Given the description of an element on the screen output the (x, y) to click on. 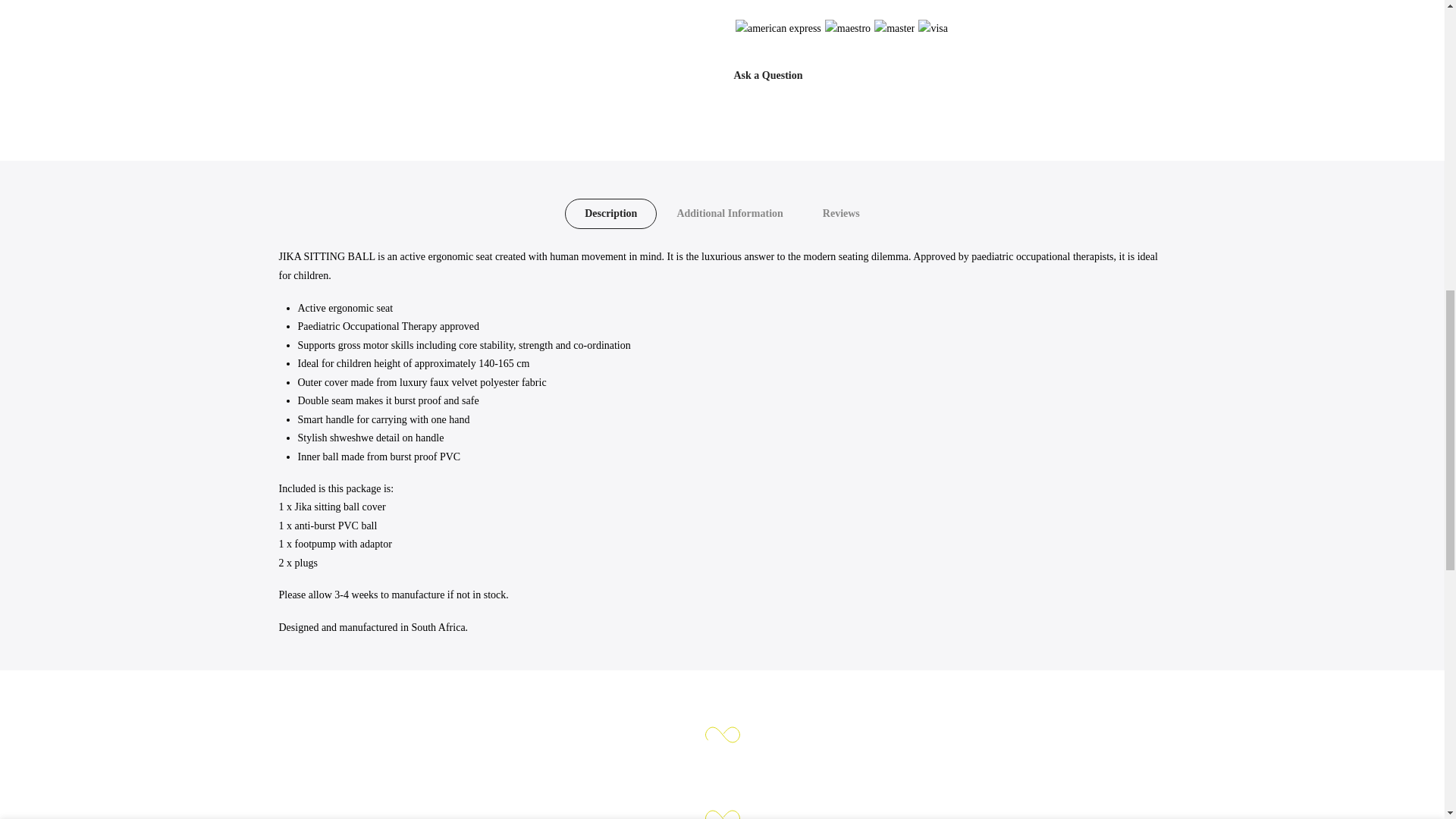
1 (1001, 35)
Reviews (841, 214)
Description (610, 214)
Ask a Question (768, 75)
Additional Information (729, 214)
